Given the description of an element on the screen output the (x, y) to click on. 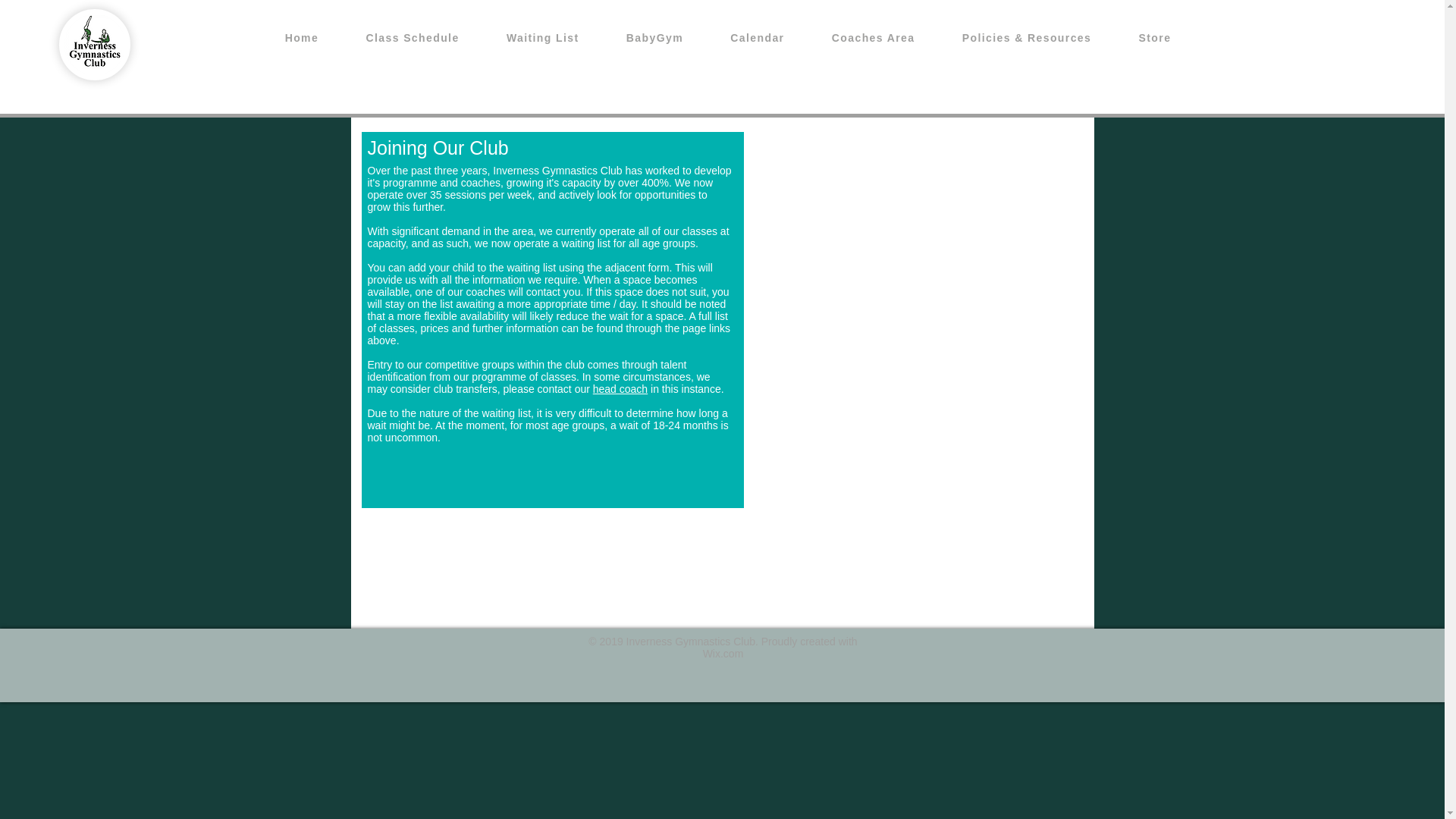
Coaches Area (873, 38)
Calendar (757, 38)
BabyGym (654, 38)
Store (1154, 38)
Home (301, 38)
Class Schedule (412, 38)
Wix.com (723, 653)
Waiting List (542, 38)
head coach (619, 388)
